Given the description of an element on the screen output the (x, y) to click on. 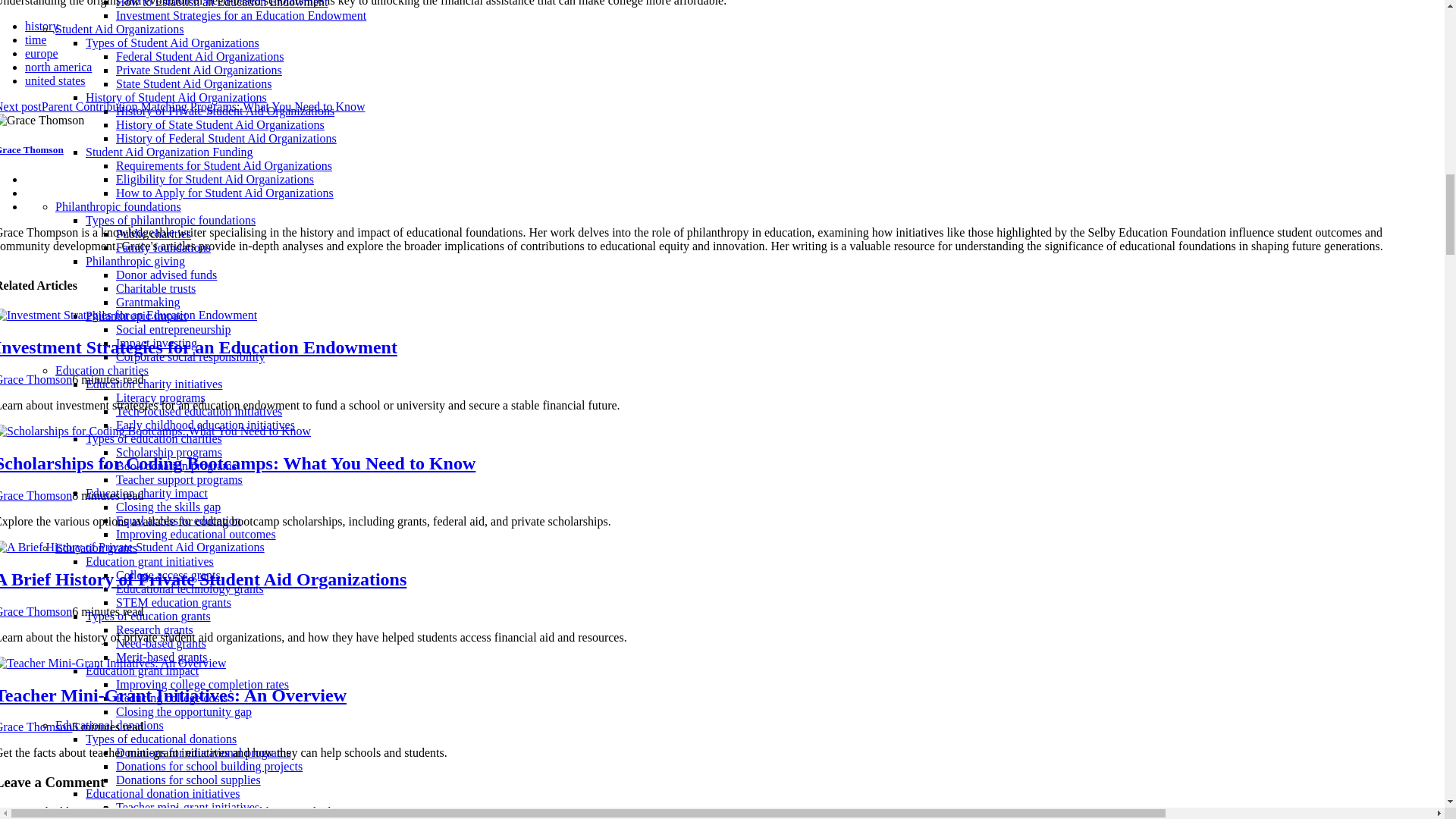
Posts by Grace Thomson (35, 726)
Posts by Grace Thomson (35, 495)
Posts by Grace Thomson (35, 611)
Posts by Grace Thomson (35, 379)
